Given the description of an element on the screen output the (x, y) to click on. 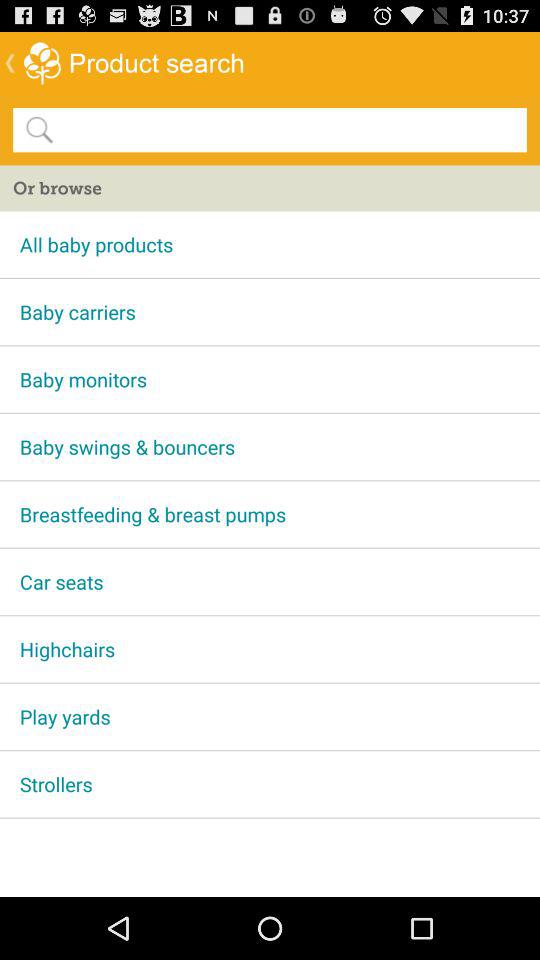
swipe until breastfeeding & breast pumps app (270, 514)
